Given the description of an element on the screen output the (x, y) to click on. 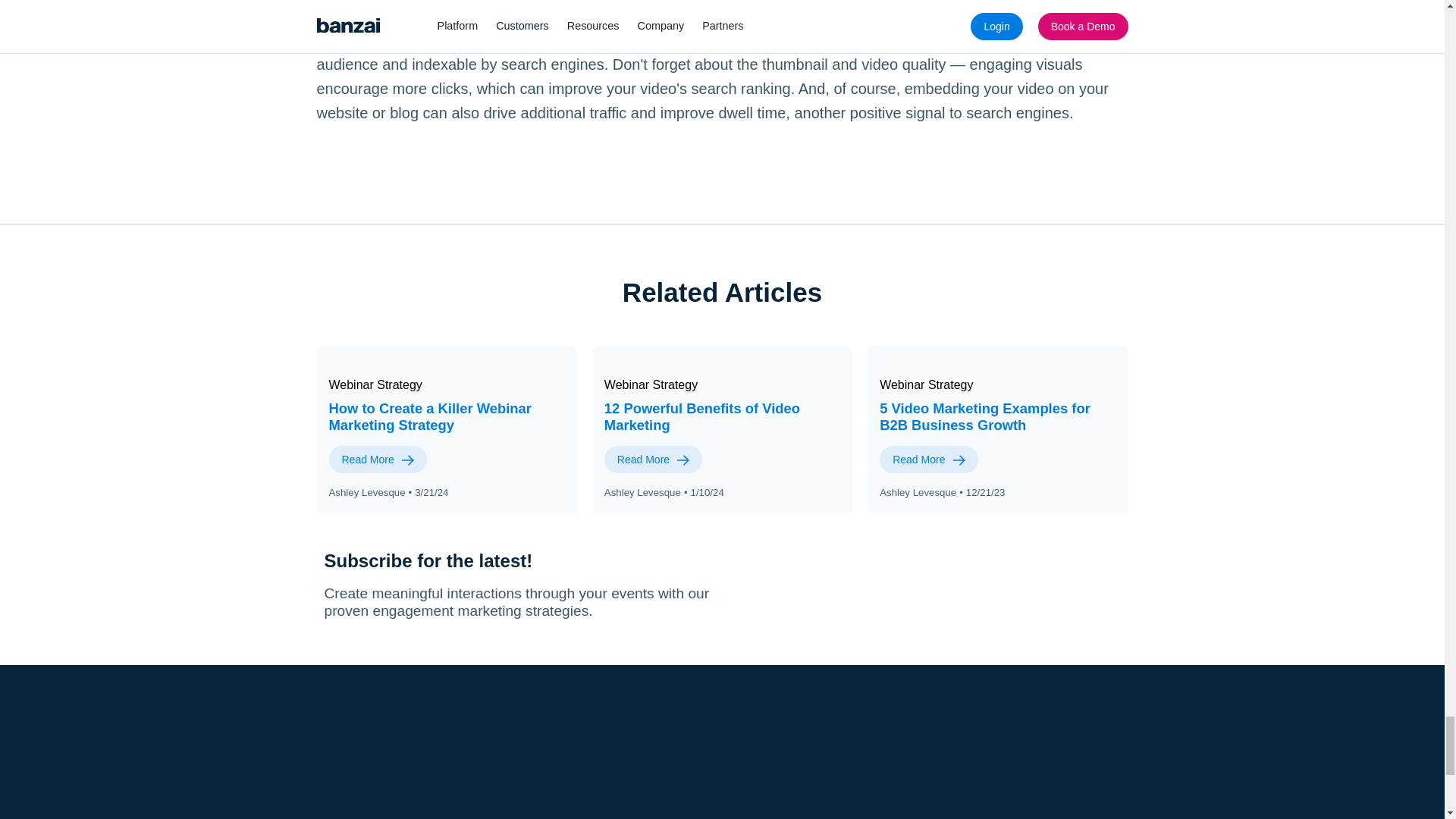
Arrow Right (959, 460)
Arrow Right (407, 460)
Arrow Right (682, 460)
